Given the description of an element on the screen output the (x, y) to click on. 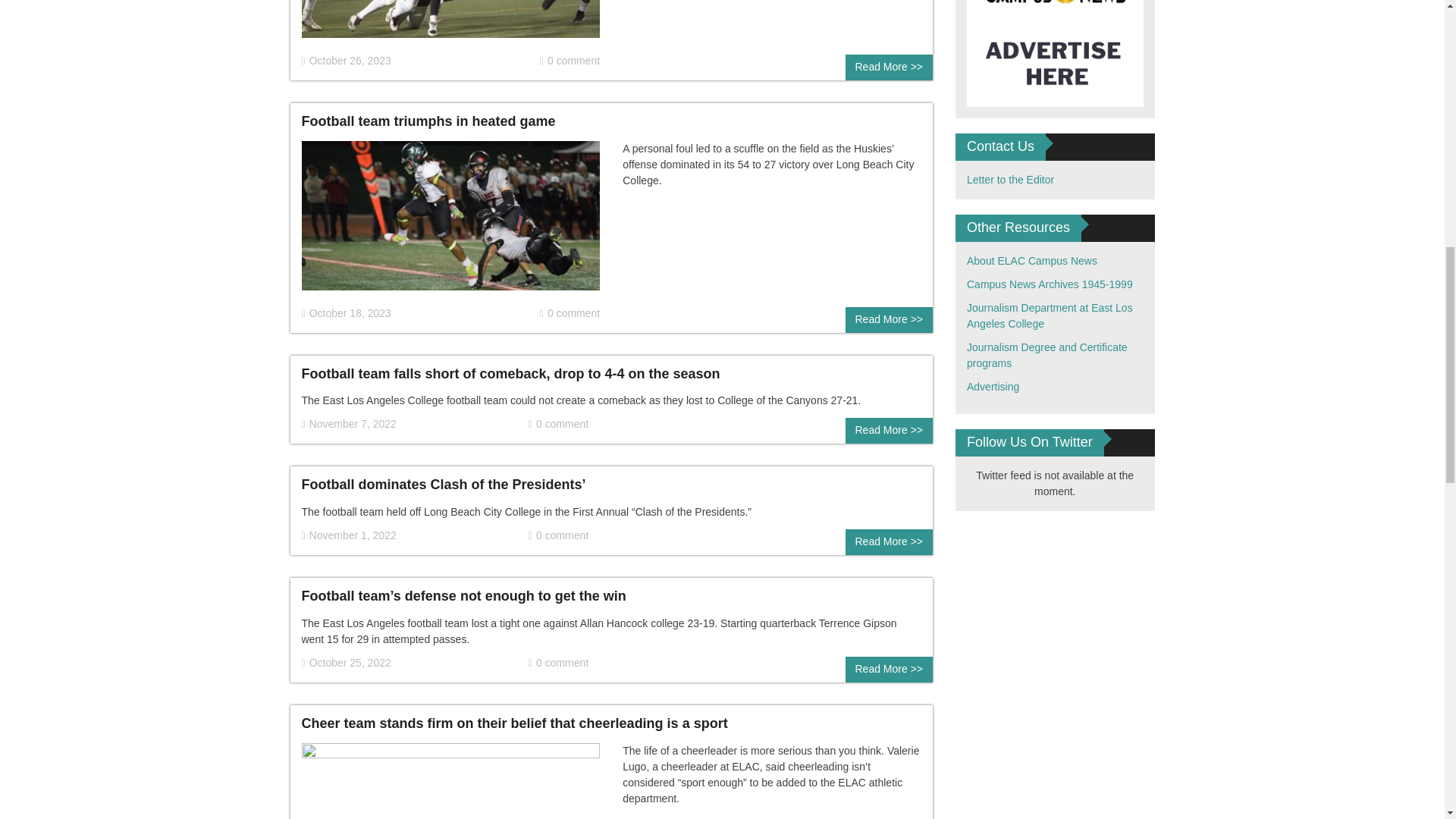
0 comment (558, 424)
Football team triumphs in heated game (450, 222)
0 comment (569, 313)
Football team triumphs in heated game (428, 120)
0 comment (569, 60)
